Given the description of an element on the screen output the (x, y) to click on. 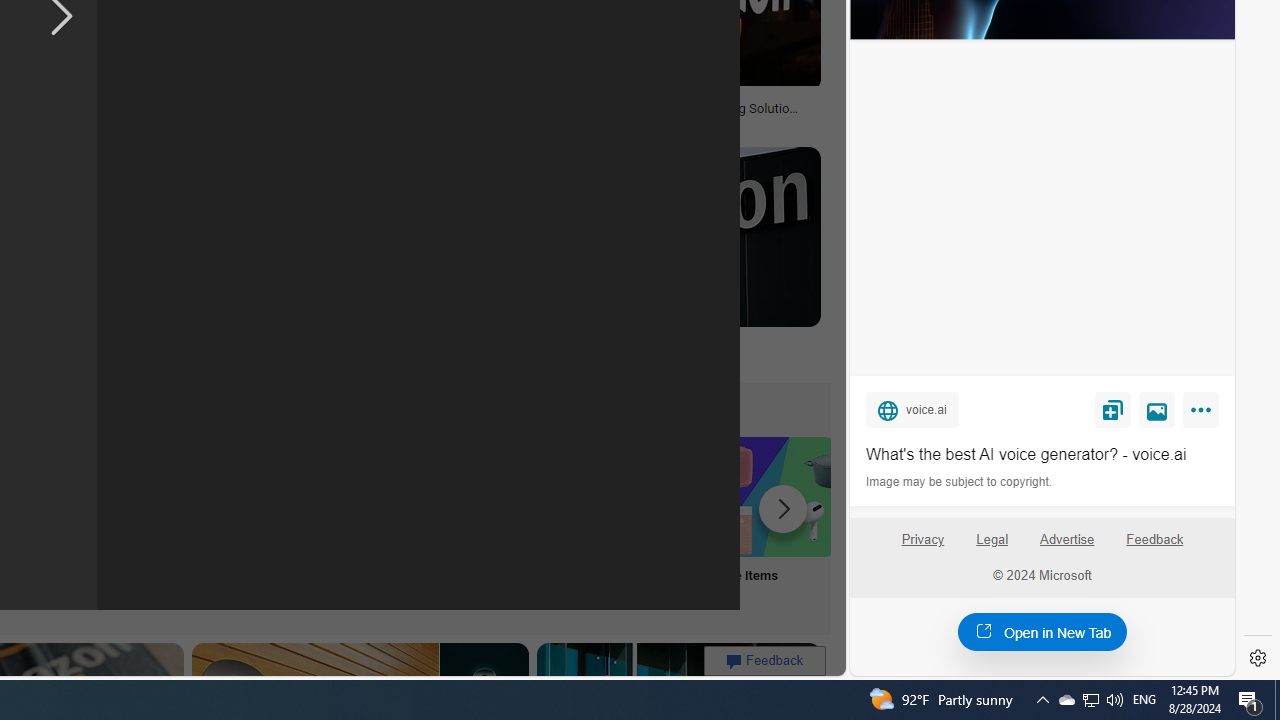
Online Shopping Homepage (248, 521)
View image (1157, 409)
Amazon (536, 343)
Amazon Mini TV (116, 496)
Open in New Tab (1042, 631)
mobilemarketingmagazine.com (651, 123)
cordcuttersnews.com (234, 358)
3d illustration of amazon logo 18779928 PNG (371, 114)
Image may be subject to copyright. (959, 481)
